Given the description of an element on the screen output the (x, y) to click on. 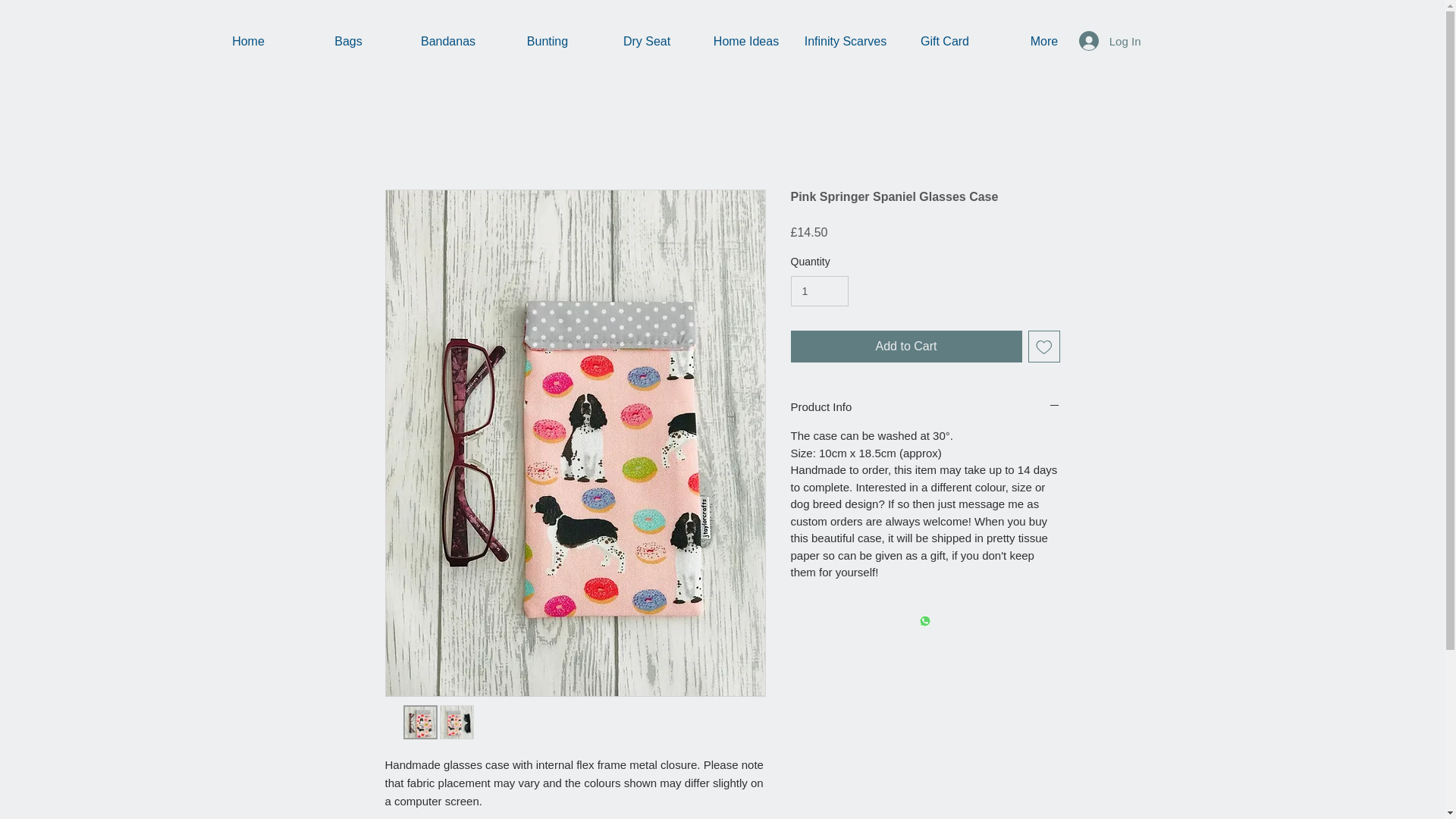
Product Info (924, 406)
Dry Seat (646, 40)
Bags (348, 40)
Home (248, 40)
Log In (1109, 40)
Bunting (546, 40)
Gift Card (944, 40)
Bandanas (447, 40)
Home Ideas (744, 40)
Infinity Scarves (845, 40)
Add to Cart (906, 346)
1 (818, 291)
